Given the description of an element on the screen output the (x, y) to click on. 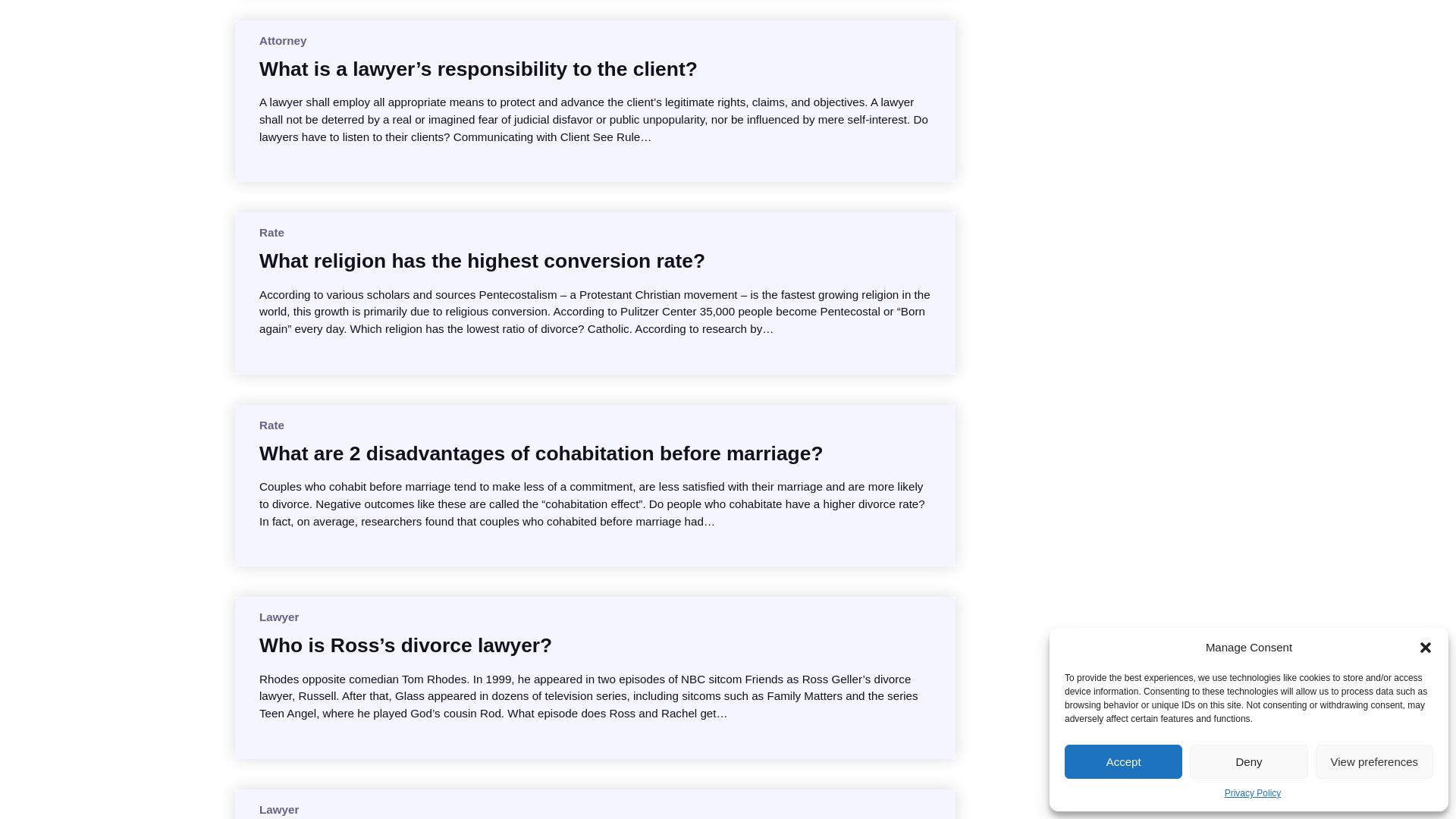
What religion has the highest conversion rate? (481, 260)
Rate (271, 424)
What are 2 disadvantages of cohabitation before marriage? (541, 453)
Lawyer (278, 616)
Attorney (282, 40)
Lawyer (278, 809)
Rate (271, 232)
